Given the description of an element on the screen output the (x, y) to click on. 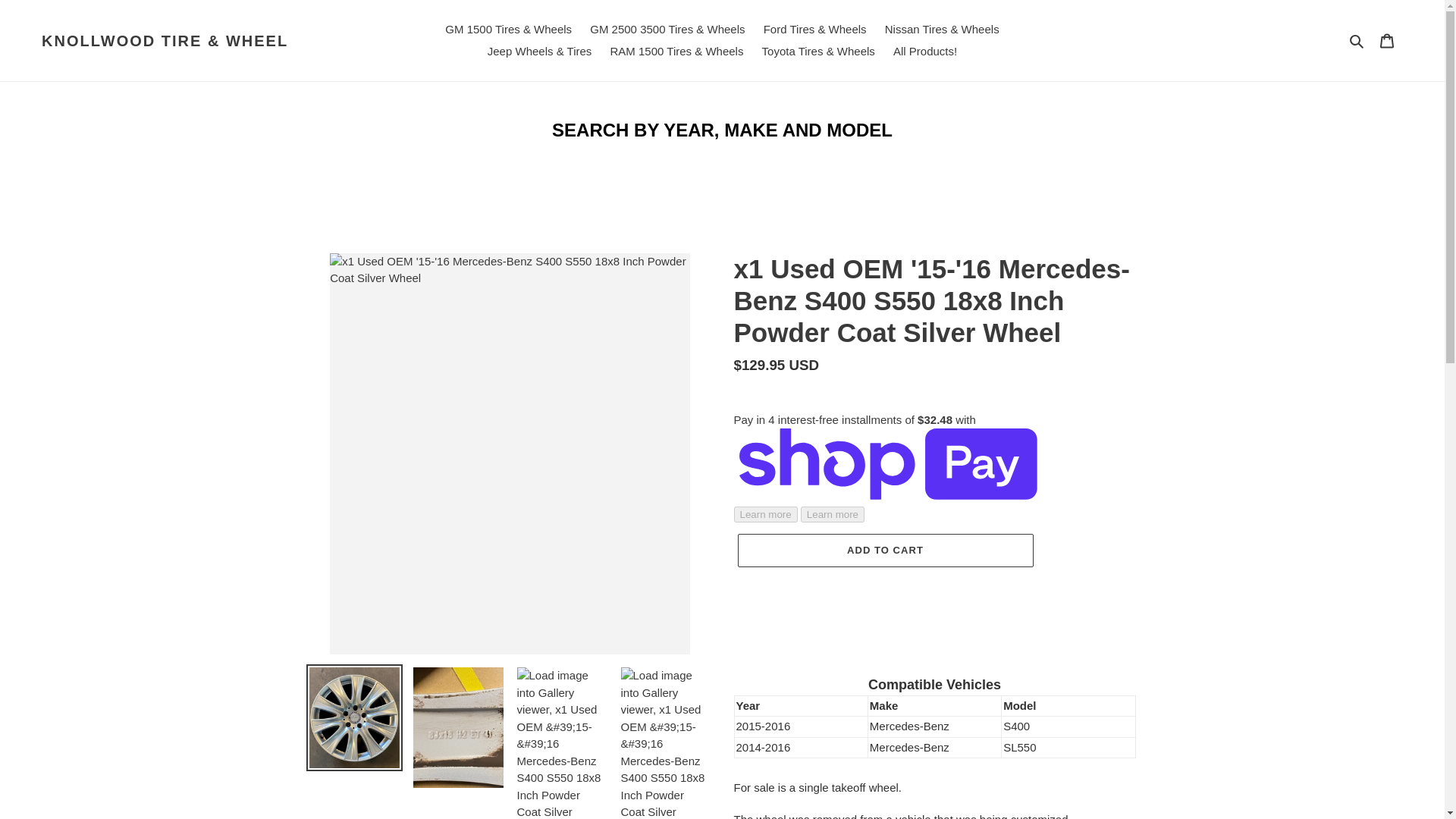
All Products! (924, 51)
Search (1357, 40)
ADD TO CART (884, 550)
Cart (1387, 40)
